Given the description of an element on the screen output the (x, y) to click on. 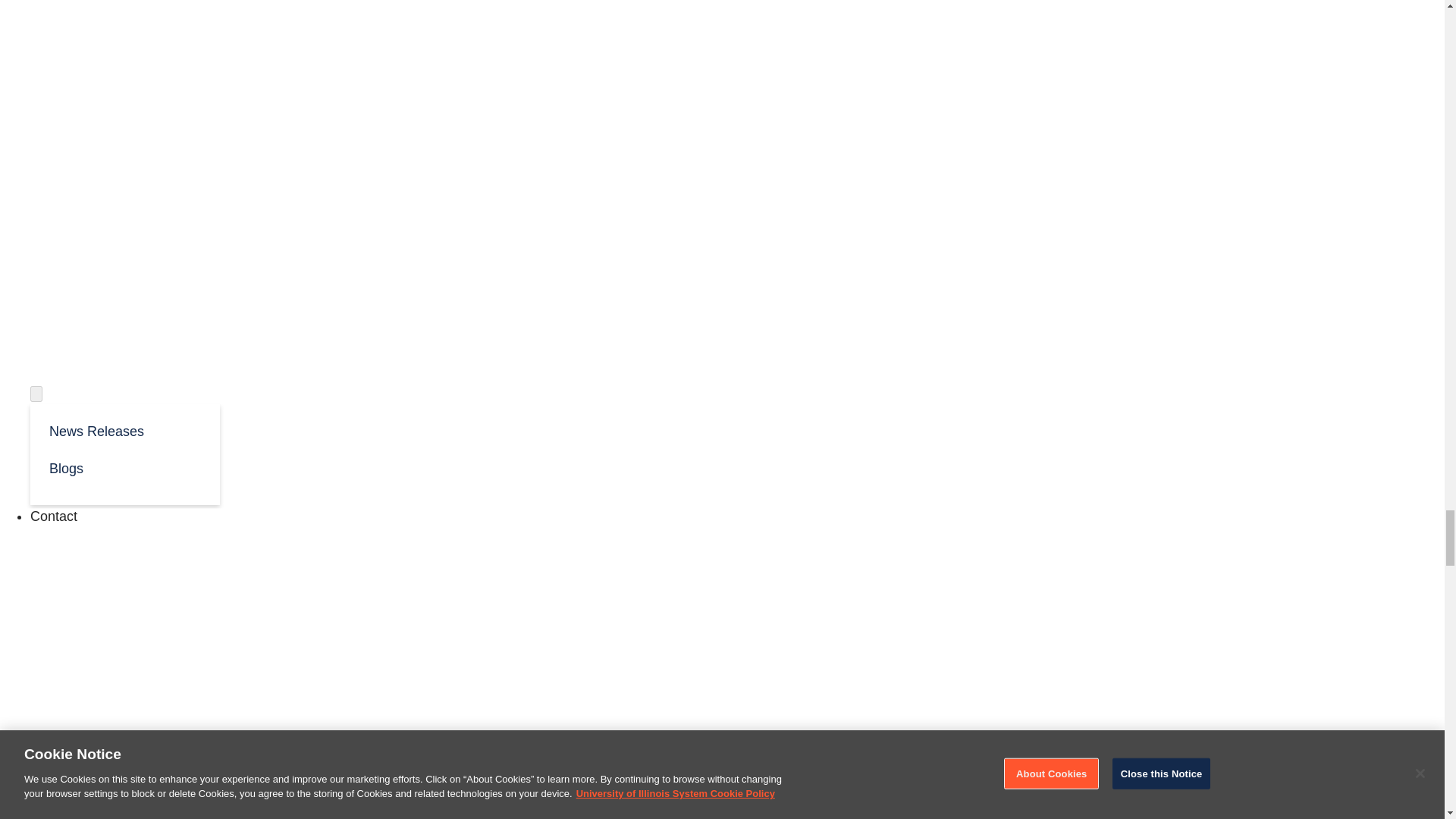
News Releases (125, 429)
Contact (53, 516)
Blogs (125, 467)
